Given the description of an element on the screen output the (x, y) to click on. 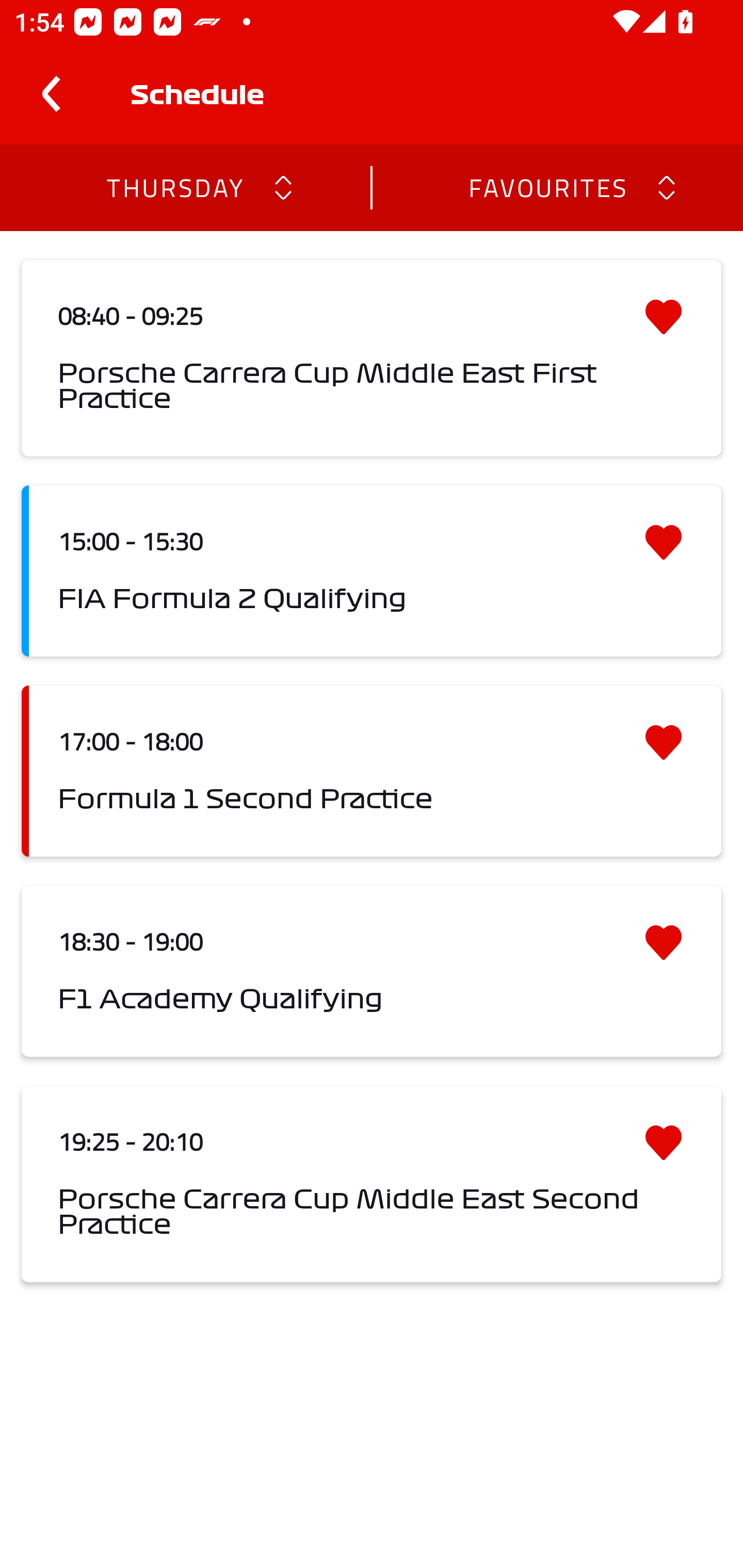
Navigate up (50, 93)
THURSDAY (174, 187)
FAVOURITES (547, 187)
15:00 - 15:30 FIA Formula 2 Qualifying (371, 571)
17:00 - 18:00 Formula 1 Second Practice (371, 770)
18:30 - 19:00 F1 Academy Qualifying (371, 970)
